Given the description of an element on the screen output the (x, y) to click on. 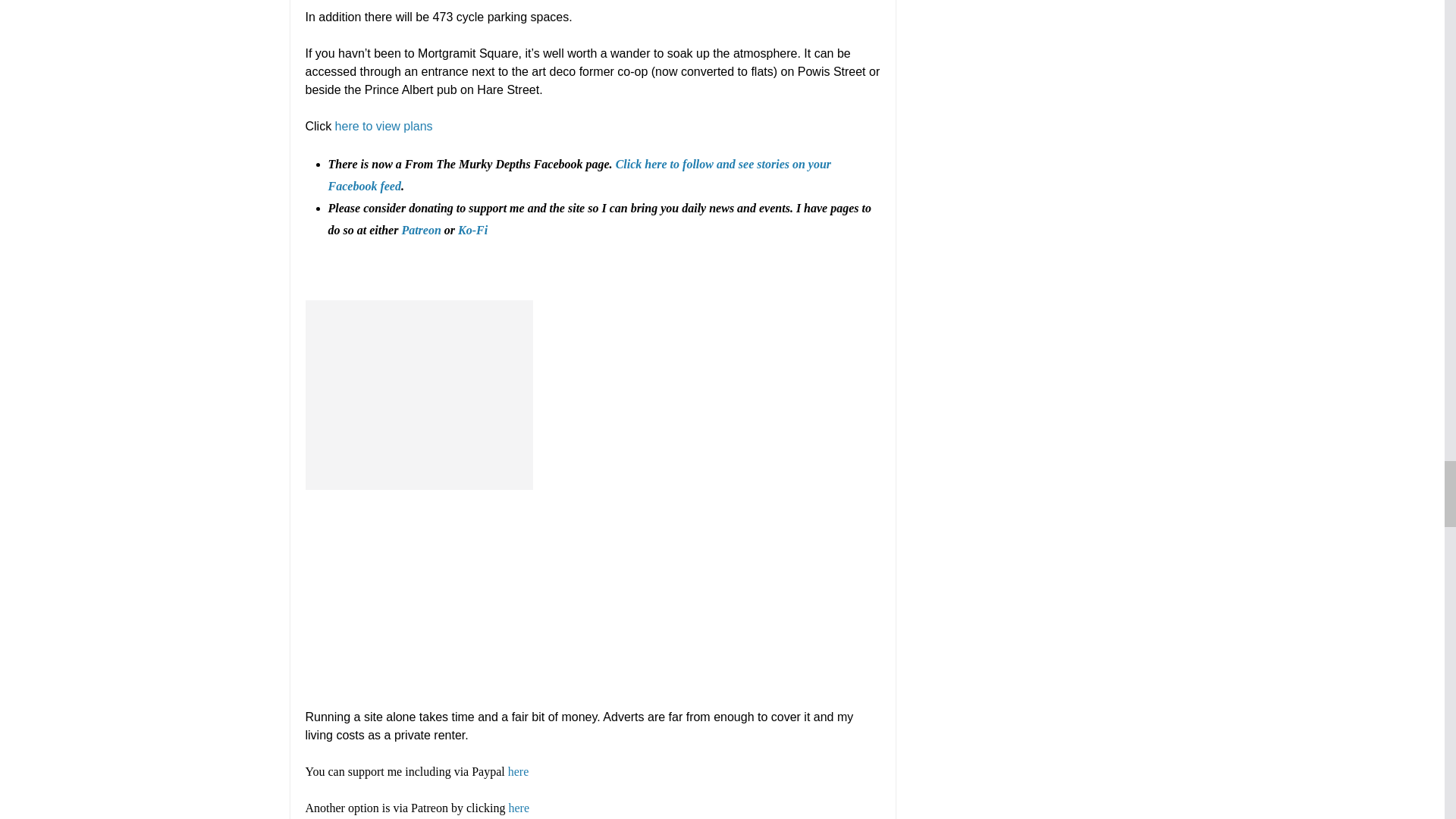
here (518, 807)
here (518, 771)
Click here to follow and see stories on your Facebook feed (579, 175)
Patreon (421, 229)
Ko-Fi (472, 229)
here to view plans  (384, 125)
